Given the description of an element on the screen output the (x, y) to click on. 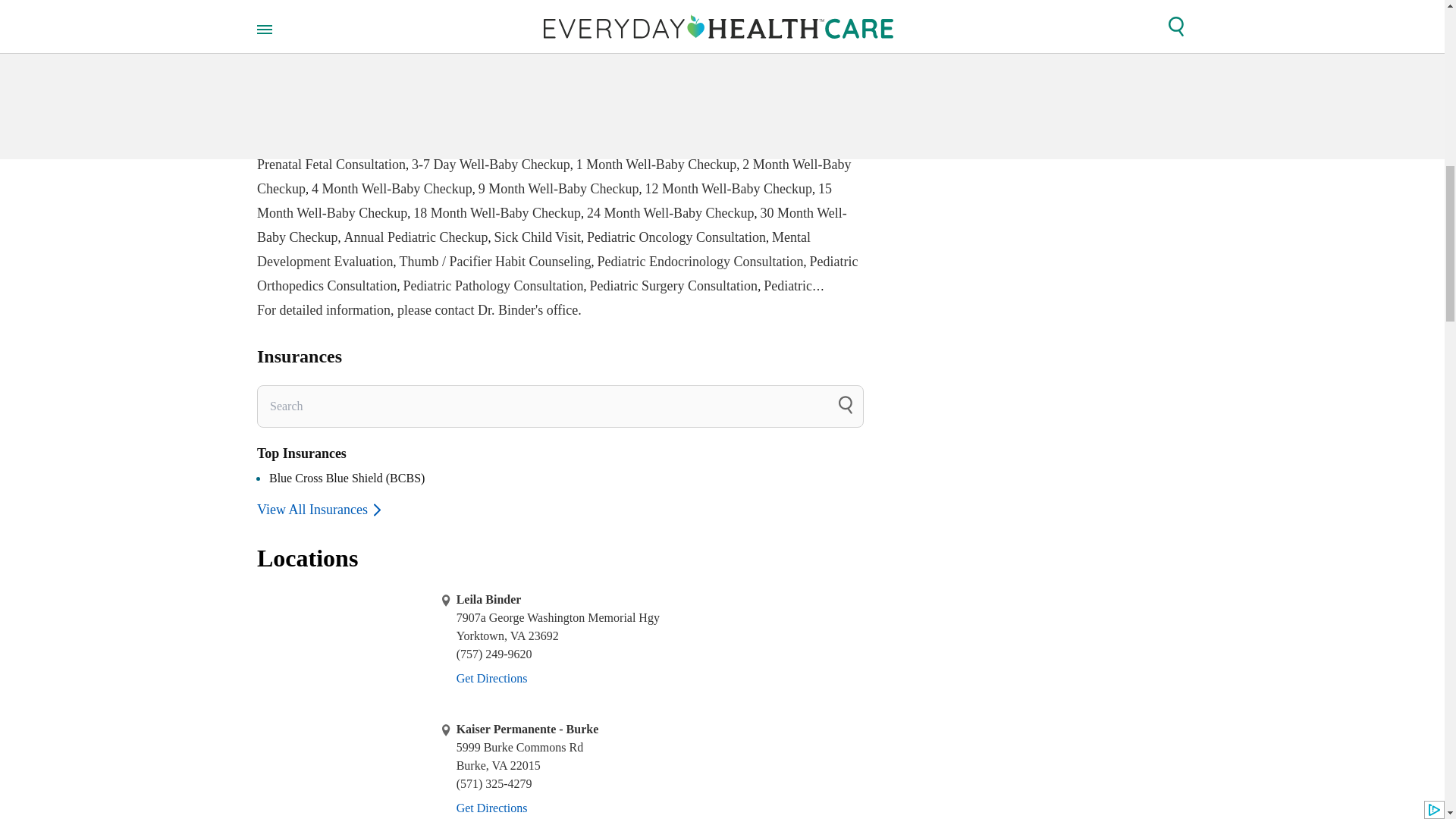
Tay Sachs Disease (554, 4)
Pediatric Pathology Consultation (493, 285)
30 Month Well-Baby Checkup (552, 224)
Pediatric Endocrinology Consultation (699, 261)
Annual Pediatric Checkup (415, 237)
9 Month Well-Baby Checkup (559, 188)
Mental Development Evaluation (533, 249)
Pediatric Surgery Consultation (673, 285)
24 Month Well-Baby Checkup (670, 212)
Turner Syndrome (771, 4)
